Given the description of an element on the screen output the (x, y) to click on. 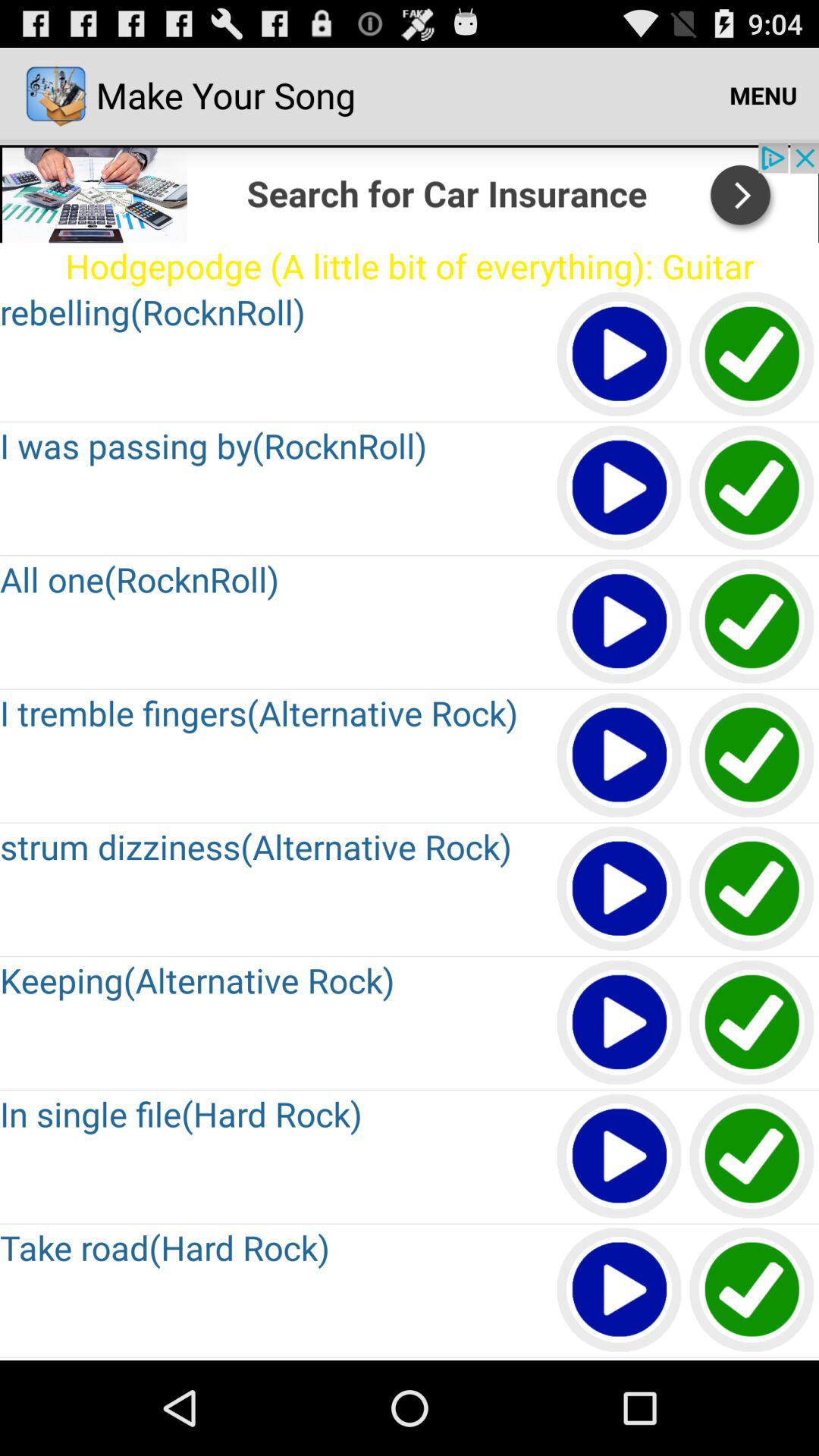
go to play (752, 1023)
